Given the description of an element on the screen output the (x, y) to click on. 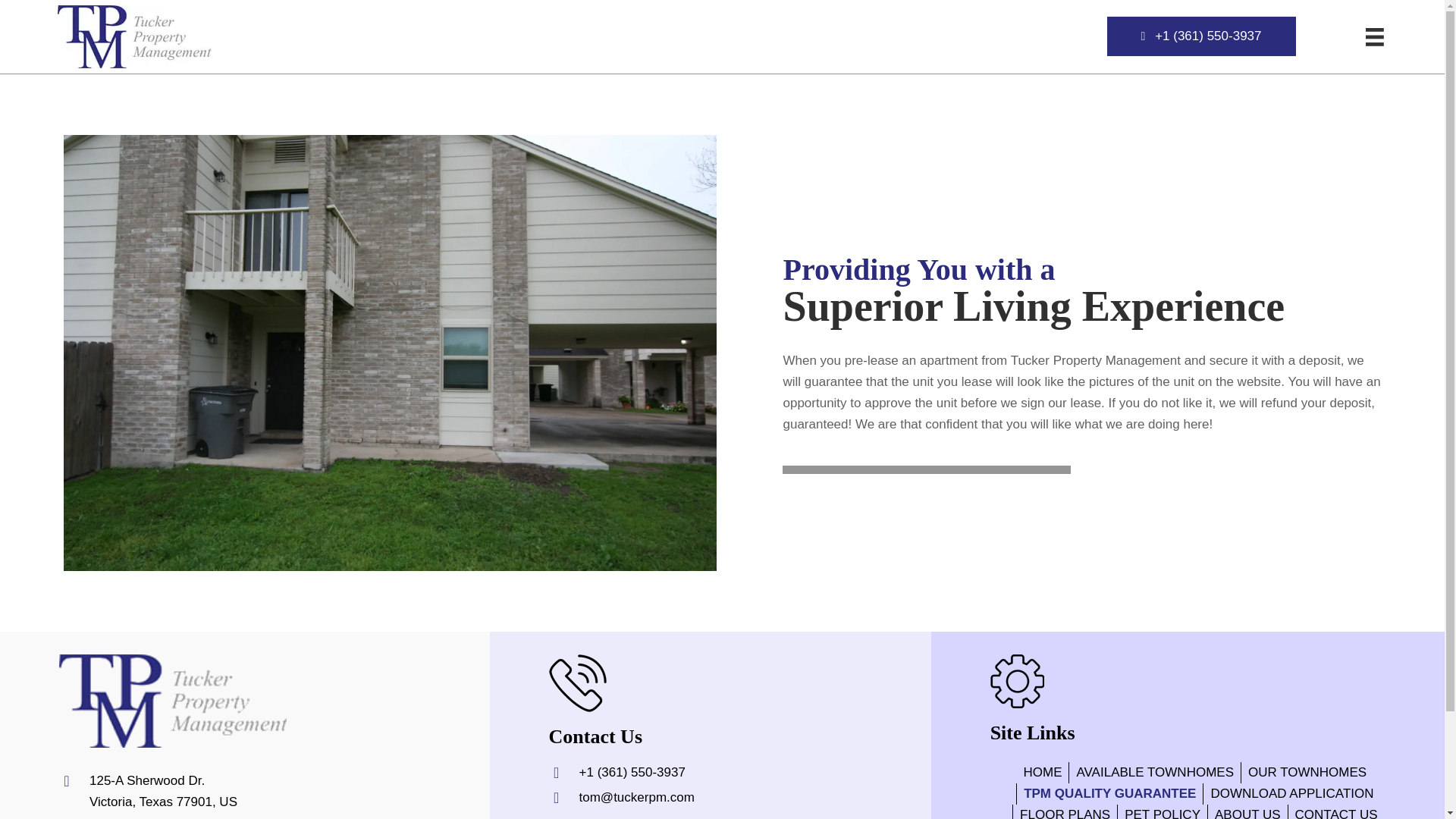
HOME (1045, 772)
ABOUT US (1247, 811)
AVAILABLE TOWNHOMES (1154, 772)
OUR TOWNHOMES (1307, 772)
DOWNLOAD APPLICATION (1292, 793)
CONTACT US (1336, 811)
FLOOR PLANS (1064, 811)
PET POLICY (1162, 811)
TPM QUALITY GUARANTEE (162, 791)
